Given the description of an element on the screen output the (x, y) to click on. 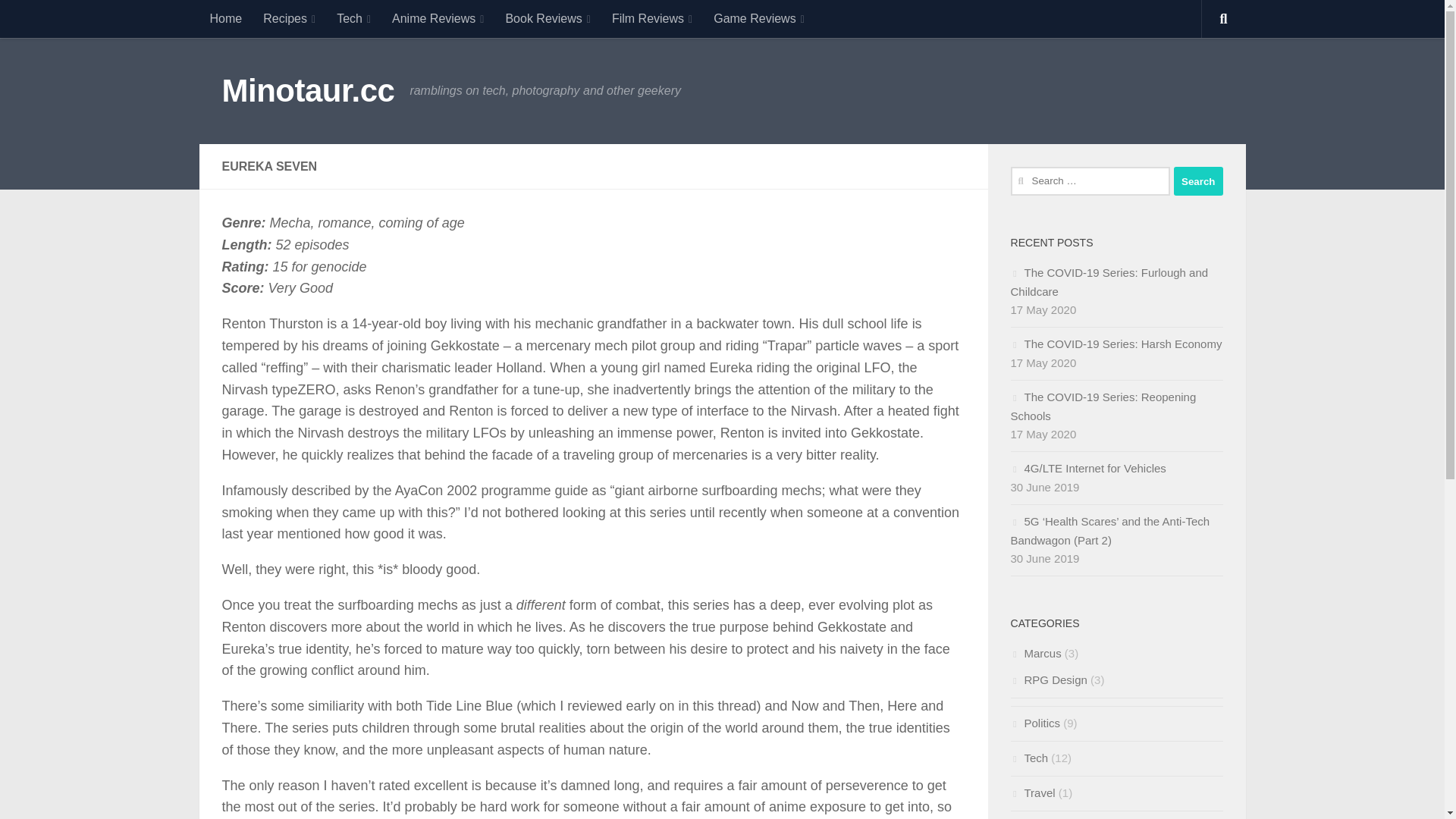
Tech (353, 18)
Search (1198, 181)
Home (224, 18)
Anime Reviews (438, 18)
Recipes (288, 18)
Search (1198, 181)
Skip to content (63, 20)
